Given the description of an element on the screen output the (x, y) to click on. 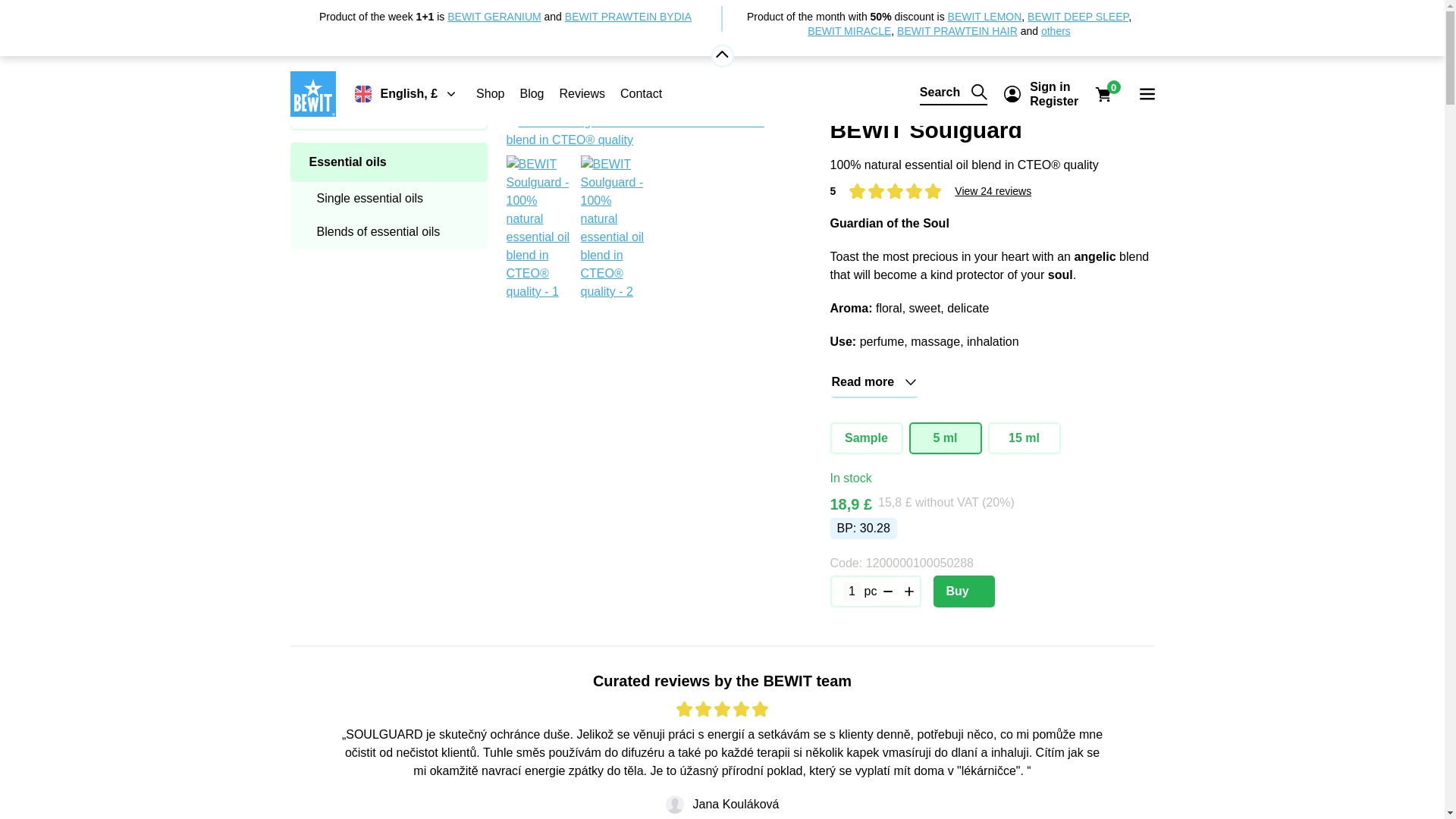
BEWIT PRAWTEIN HAIR (956, 30)
Contact (641, 92)
Blog (531, 92)
BEWIT LEMON (984, 16)
1 (852, 591)
BEWIT DEEP SLEEP (1077, 16)
Reviews (581, 92)
BEWIT MIRACLE (849, 30)
BEWIT GERANIUM (493, 16)
Register (1053, 101)
